Given the description of an element on the screen output the (x, y) to click on. 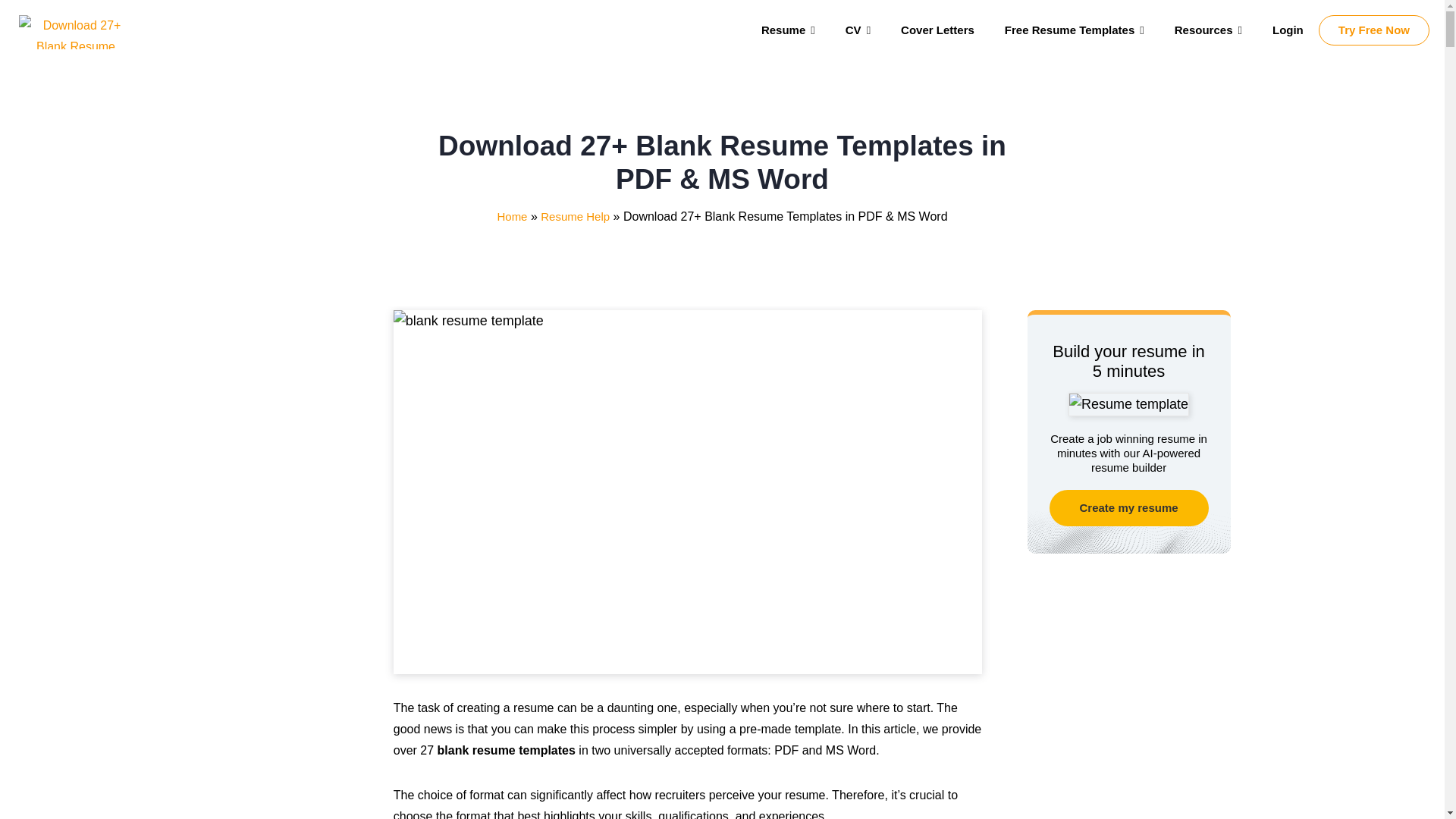
Login (1288, 30)
Resources (1207, 30)
Try Free Now (1374, 30)
Home (511, 215)
Free Resume Templates (1074, 30)
Resume (787, 30)
Resume Help (575, 215)
Cover Letters (937, 30)
CV (857, 30)
